Given the description of an element on the screen output the (x, y) to click on. 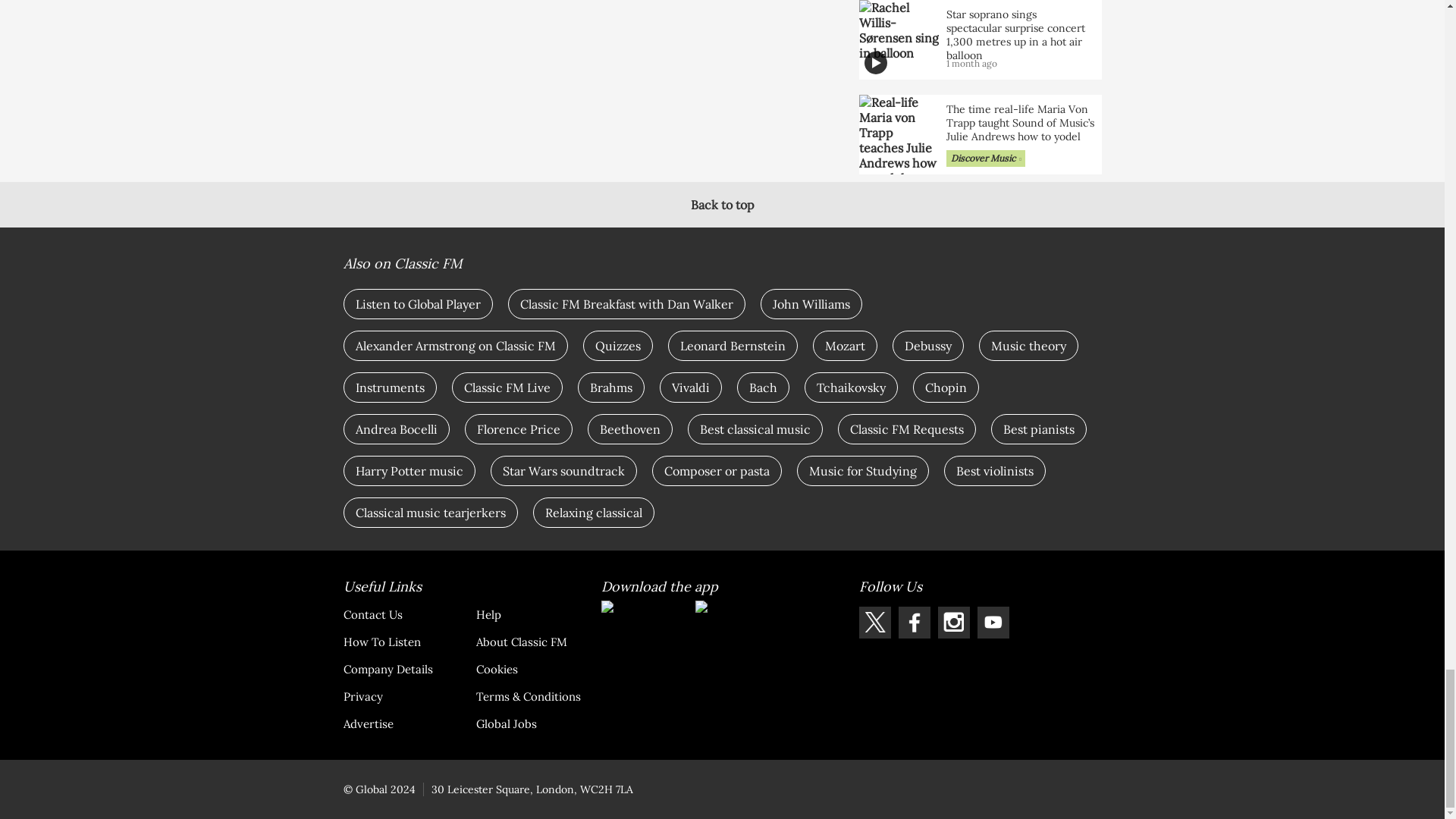
Follow Classic FM on Facebook (914, 622)
Follow Classic FM on Instagram (953, 622)
Follow Classic FM on X (874, 622)
Follow Classic FM on Youtube (992, 622)
Back to top (722, 204)
